Given the description of an element on the screen output the (x, y) to click on. 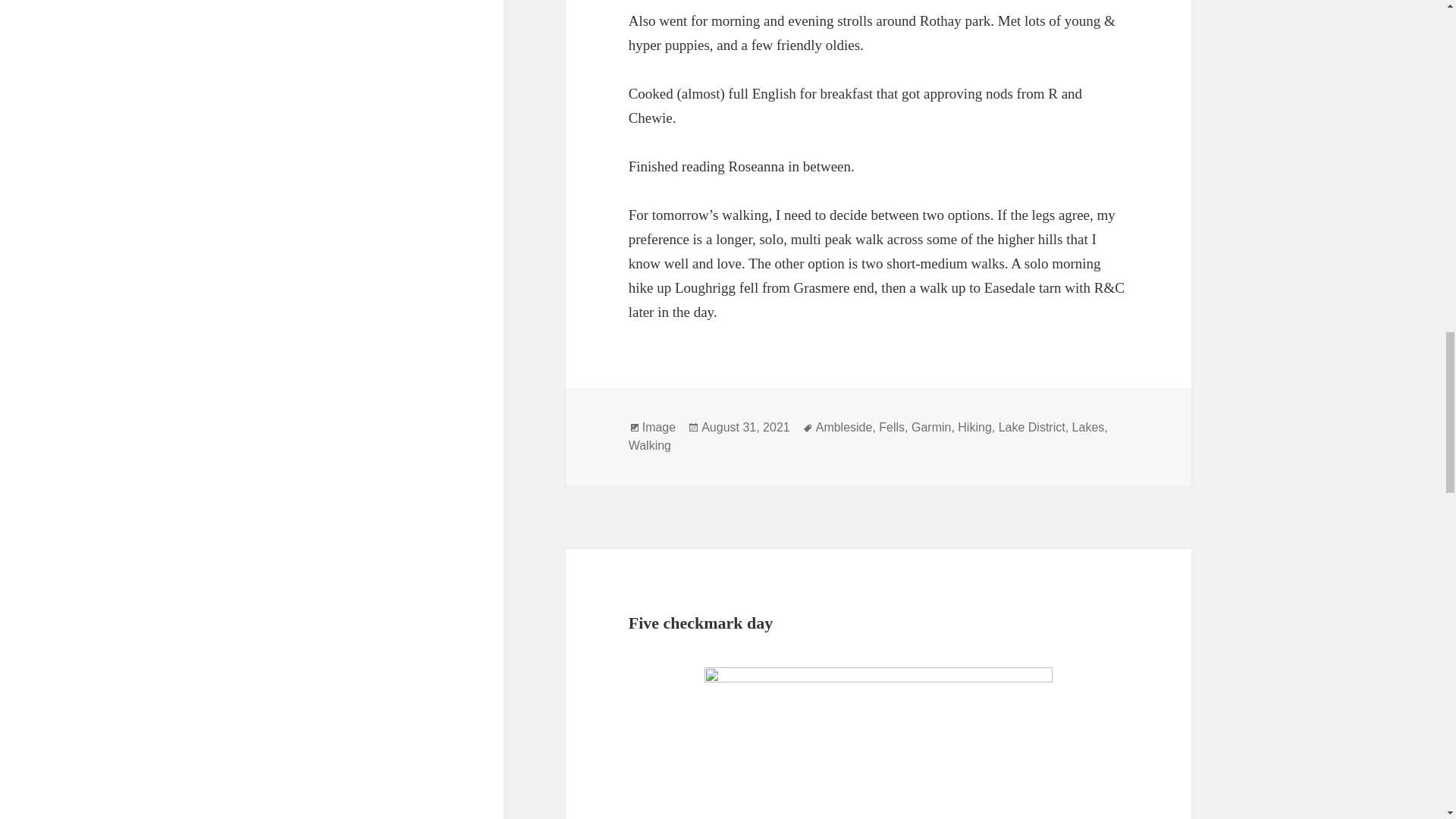
Garmin (930, 427)
Five checkmark day (700, 622)
Walking (649, 445)
August 31, 2021 (745, 427)
Lakes (1088, 427)
Lake District (1031, 427)
Fells (891, 427)
Image (658, 427)
Ambleside (843, 427)
Hiking (974, 427)
